Given the description of an element on the screen output the (x, y) to click on. 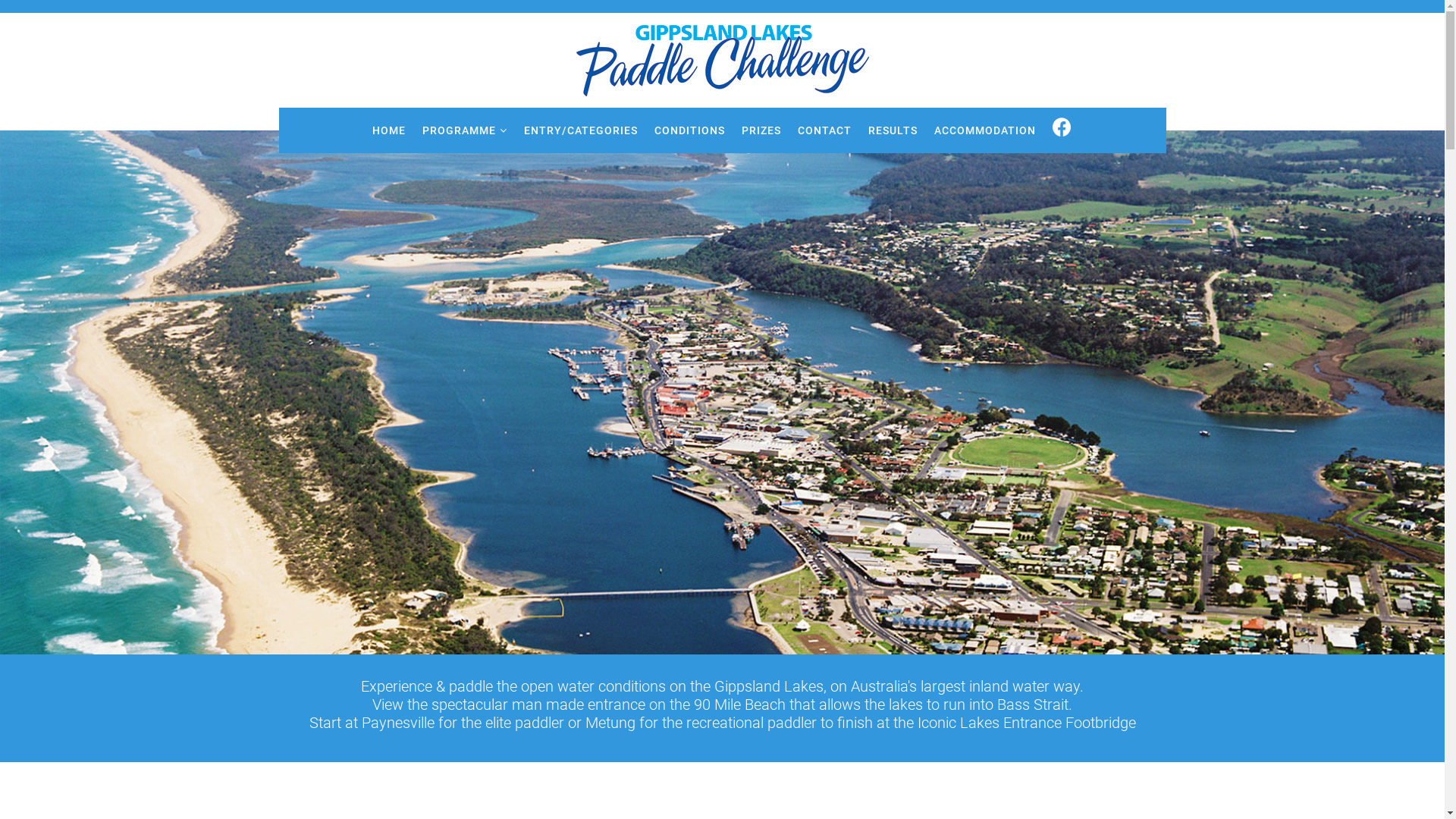
ACCOMMODATION Element type: text (984, 130)
CONDITIONS Element type: text (689, 130)
CONTACT Element type: text (824, 130)
HOME Element type: text (389, 130)
ENTRY/CATEGORIES Element type: text (580, 130)
PROGRAMME Element type: text (464, 130)
PRIZES Element type: text (761, 130)
RESULTS Element type: text (892, 130)
